Given the description of an element on the screen output the (x, y) to click on. 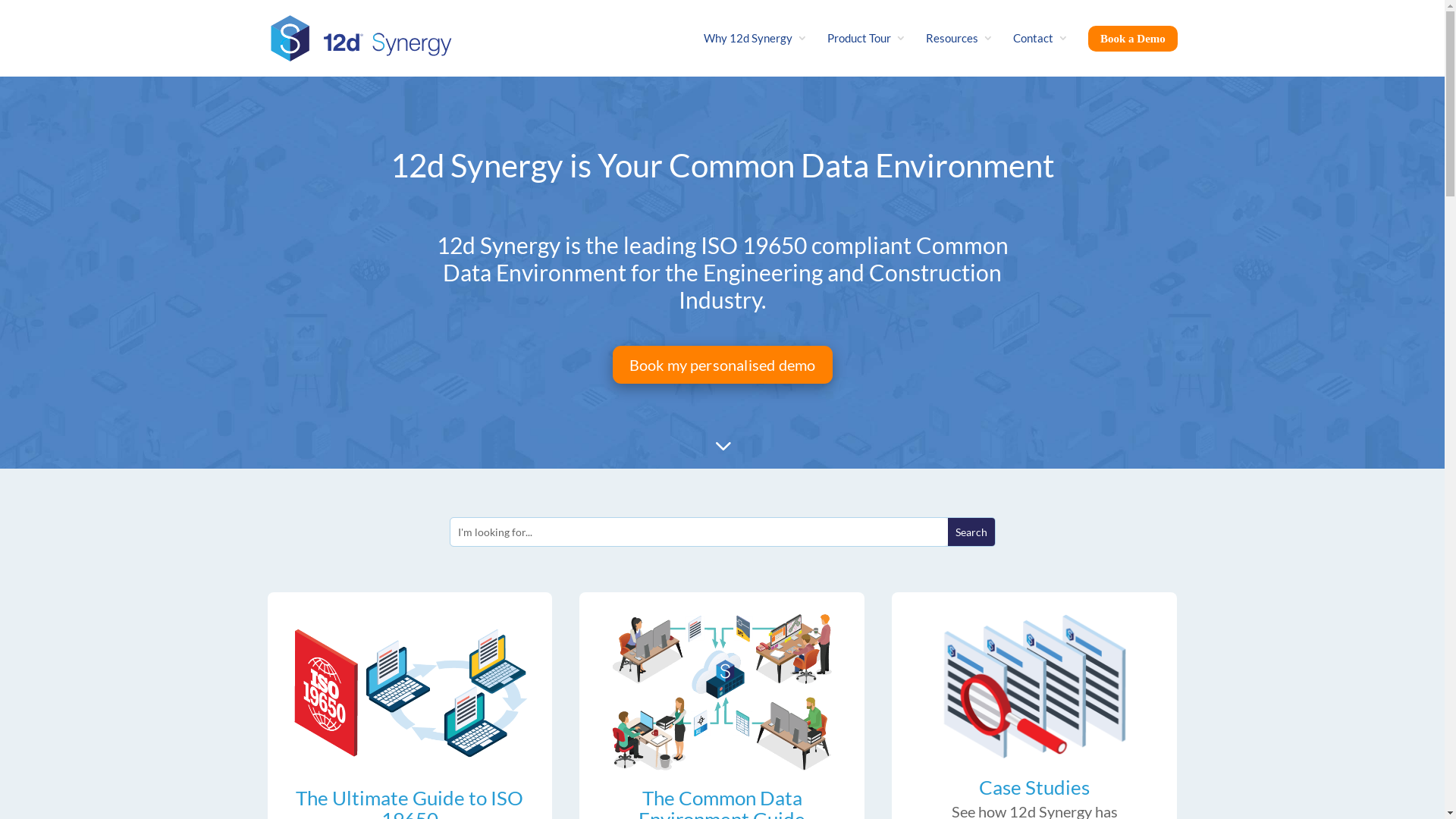
Contact Element type: text (1040, 53)
Product Tour Element type: text (866, 53)
Search Element type: text (970, 531)
Book a Demo Element type: text (1132, 50)
Resources Element type: text (959, 53)
Why 12d Synergy Element type: text (755, 53)
Book my personalised demo Element type: text (722, 364)
